Given the description of an element on the screen output the (x, y) to click on. 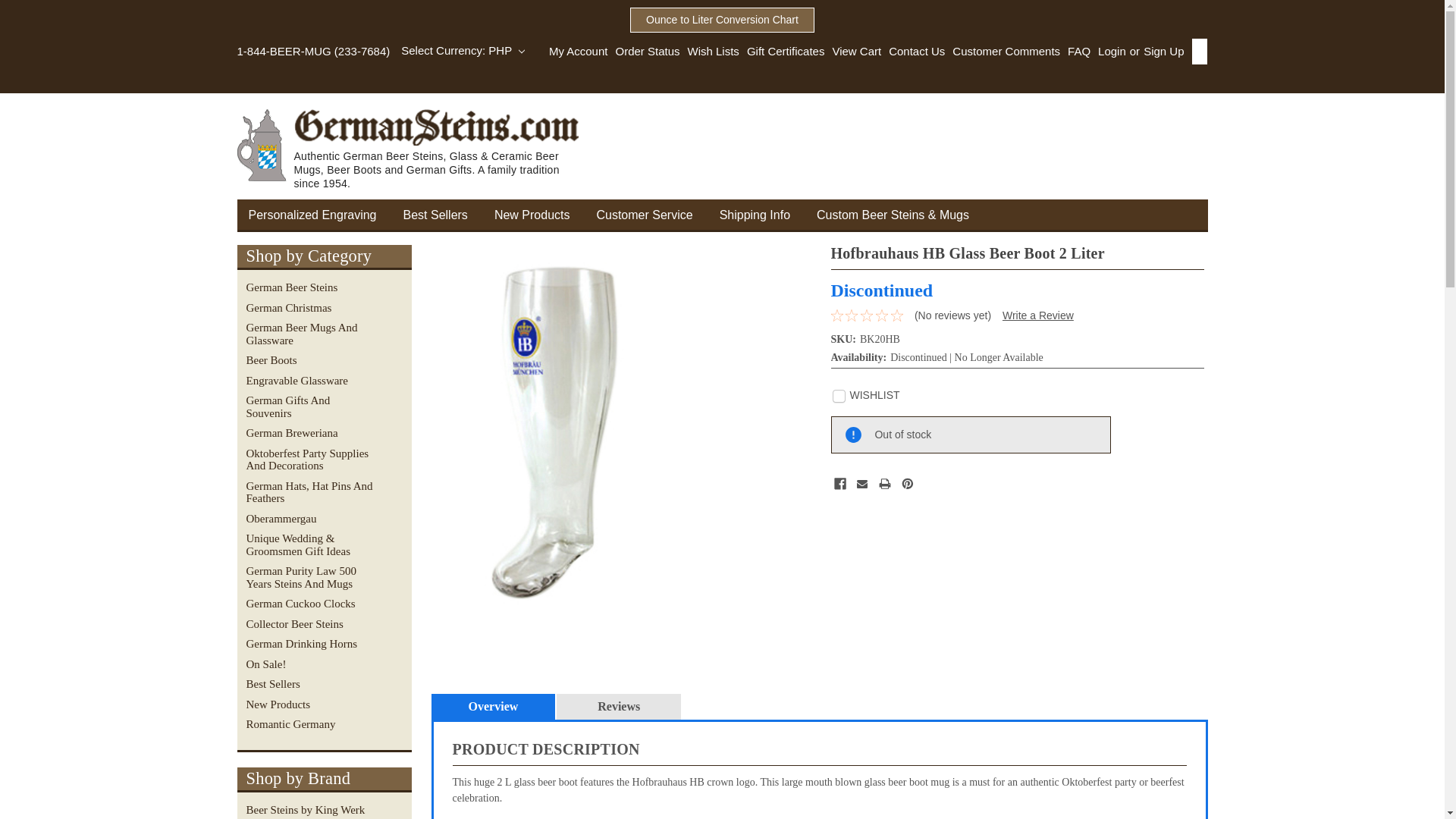
Order Status (643, 51)
Select Currency: PHP (462, 50)
View Cart (852, 51)
Login (1111, 51)
My Account (578, 51)
Gift Certificates (782, 51)
Wish Lists (709, 51)
FAQ (1074, 51)
Sign Up (1161, 51)
Contact Us (912, 51)
Customer Comments (1001, 51)
